Given the description of an element on the screen output the (x, y) to click on. 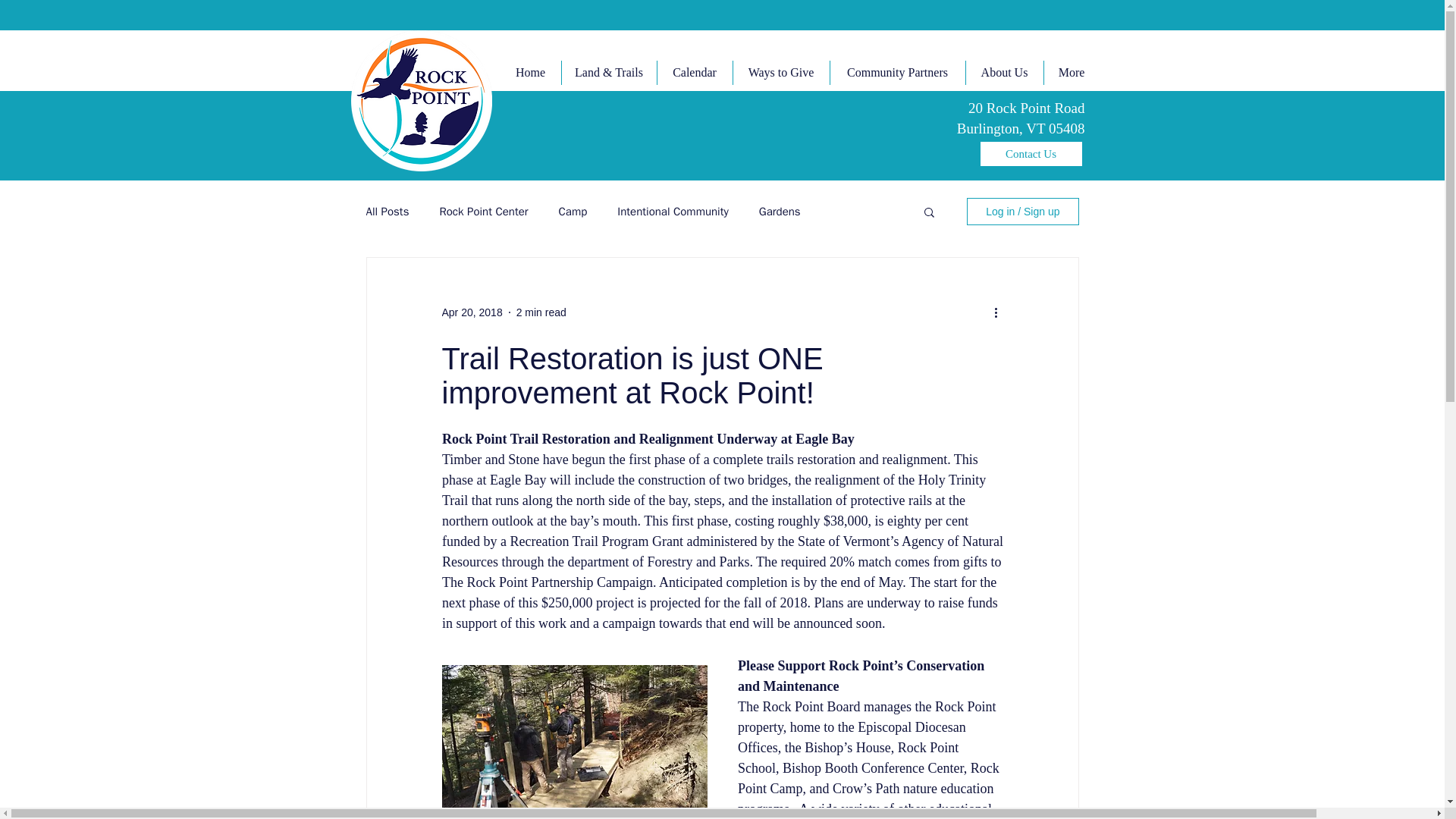
Apr 20, 2018 (471, 312)
Contact Us (1030, 153)
Community Partners (897, 72)
All Posts (387, 211)
Ways to Give (780, 72)
Calendar (694, 72)
Camp (573, 211)
Intentional Community (672, 211)
Gardens (779, 211)
About Us (1002, 72)
